Given the description of an element on the screen output the (x, y) to click on. 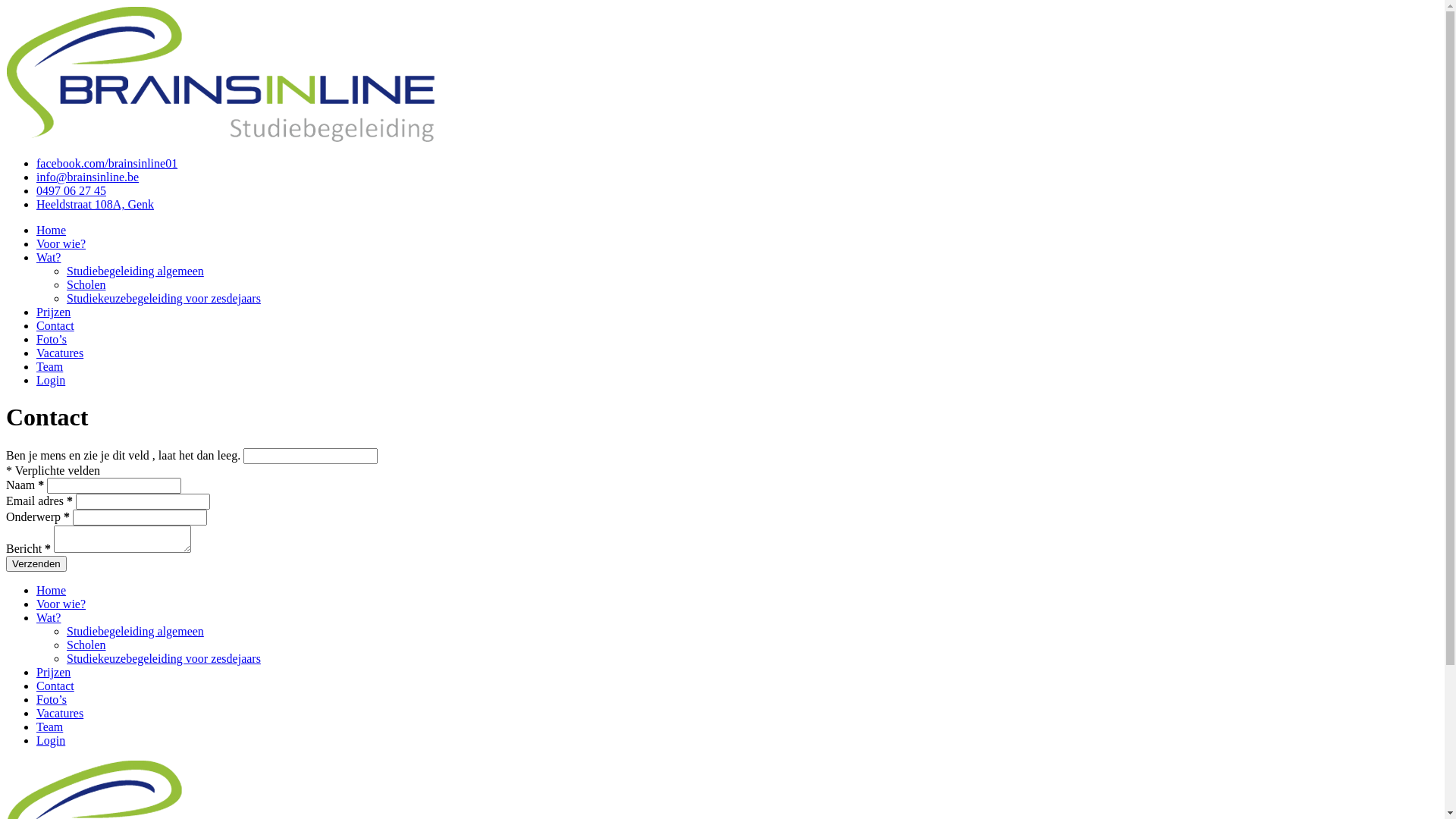
Scholen Element type: text (86, 284)
facebook.com/brainsinline01 Element type: text (106, 162)
Team Element type: text (49, 366)
Wat? Element type: text (48, 617)
Contact Element type: text (55, 685)
Prijzen Element type: text (53, 671)
Voor wie? Element type: text (60, 243)
Voor wie? Element type: text (60, 603)
Studiebegeleiding algemeen Element type: text (134, 630)
Home Element type: text (50, 589)
Verzenden Element type: text (36, 563)
Studiekeuzebegeleiding voor zesdejaars Element type: text (163, 297)
Heeldstraat 108A, Genk Element type: text (94, 203)
Prijzen Element type: text (53, 311)
Studiekeuzebegeleiding voor zesdejaars Element type: text (163, 658)
Team Element type: text (49, 726)
Vacatures Element type: text (59, 712)
Login Element type: text (50, 740)
Contact Element type: text (55, 325)
Wat? Element type: text (48, 257)
0497 06 27 45 Element type: text (71, 190)
Studiebegeleiding algemeen Element type: text (134, 270)
info@brainsinline.be Element type: text (87, 176)
Home Element type: text (50, 229)
Vacatures Element type: text (59, 352)
Login Element type: text (50, 379)
Scholen Element type: text (86, 644)
